Given the description of an element on the screen output the (x, y) to click on. 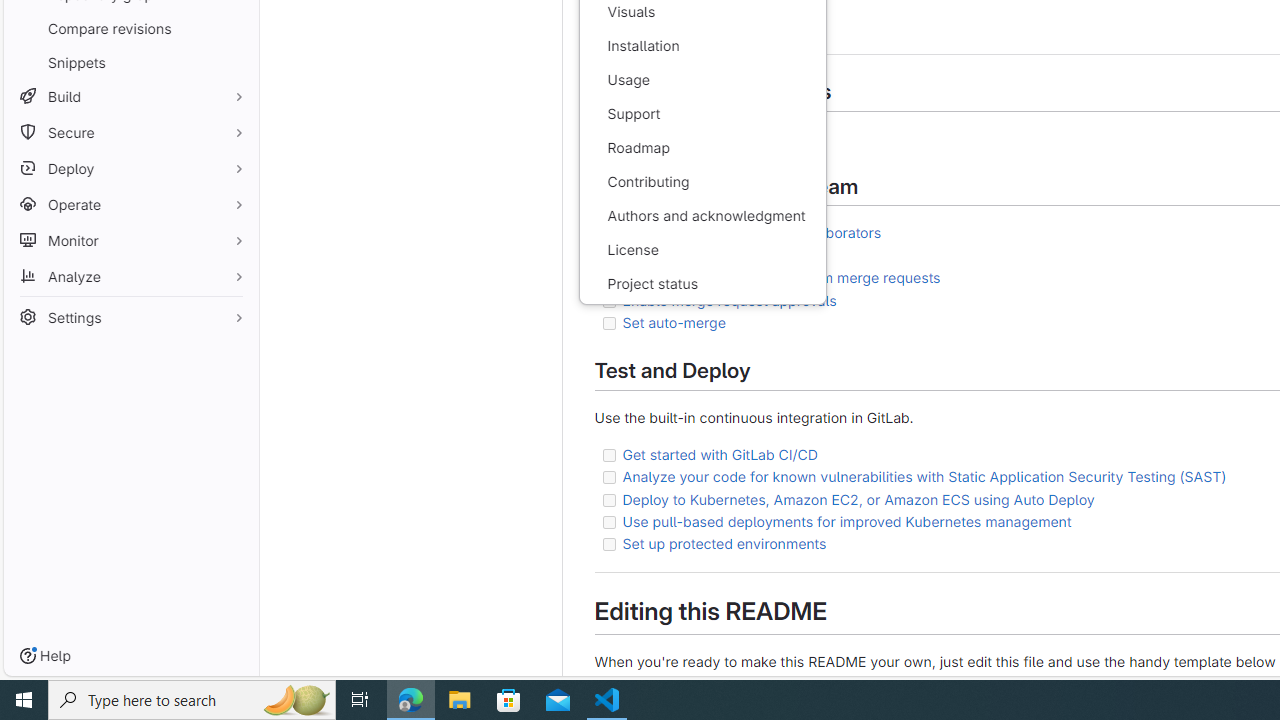
Build (130, 96)
Authors and acknowledgment (701, 215)
Analyze (130, 276)
Project status (701, 283)
